Given the description of an element on the screen output the (x, y) to click on. 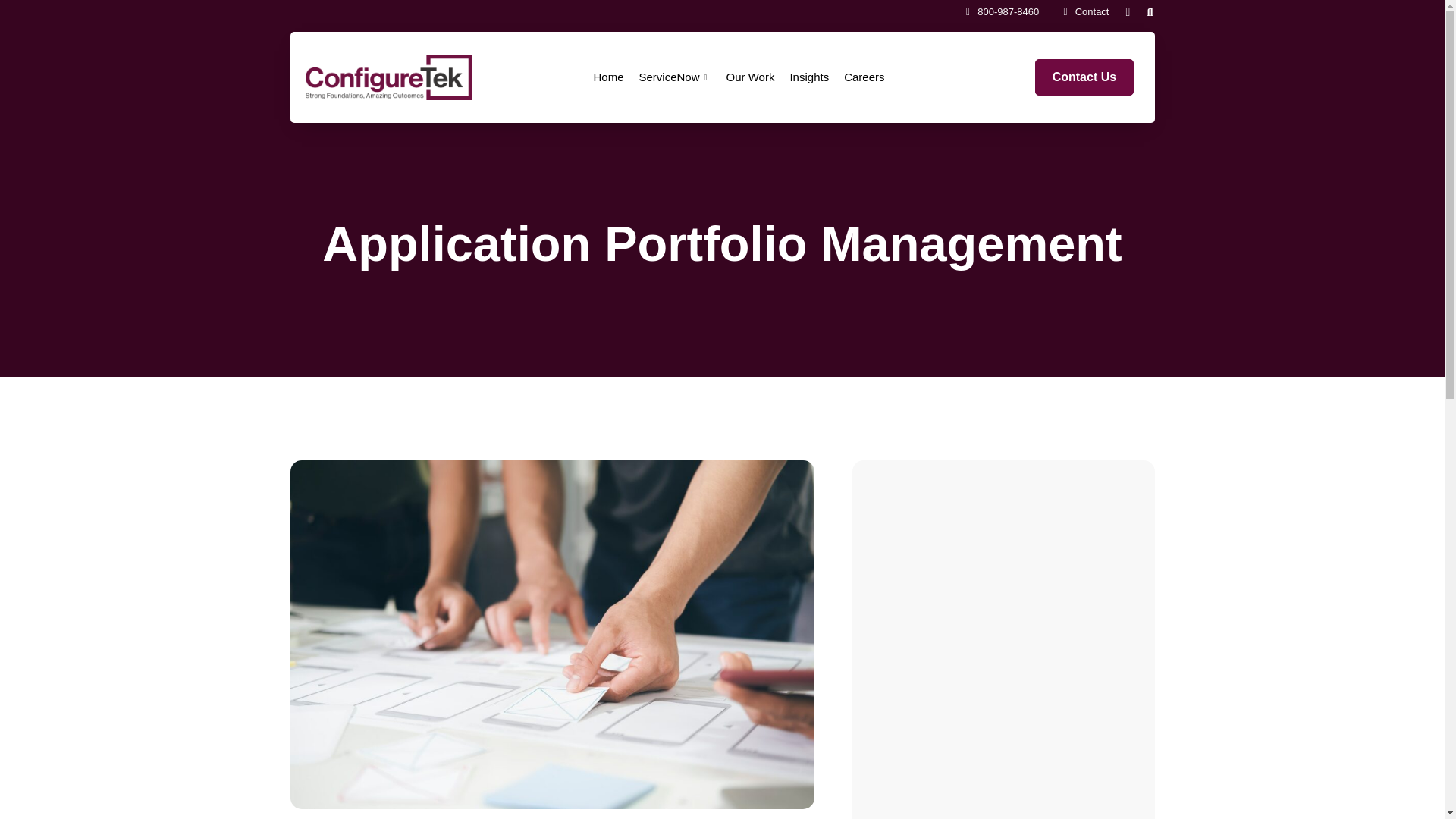
800-987-8460 (997, 11)
Home (607, 76)
Contact (1081, 11)
ServiceNow (673, 76)
